Given the description of an element on the screen output the (x, y) to click on. 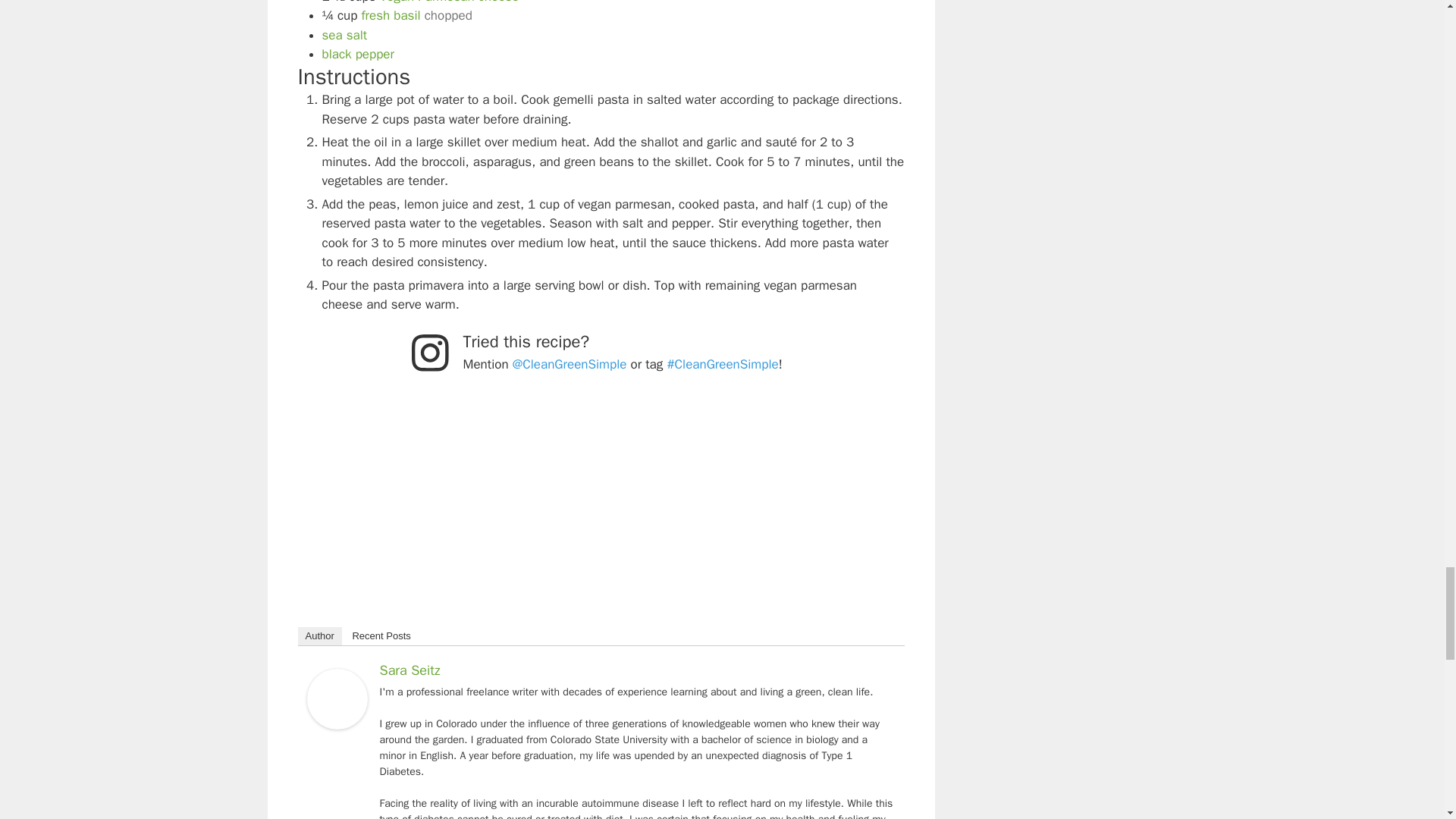
Sara Seitz (335, 725)
